Given the description of an element on the screen output the (x, y) to click on. 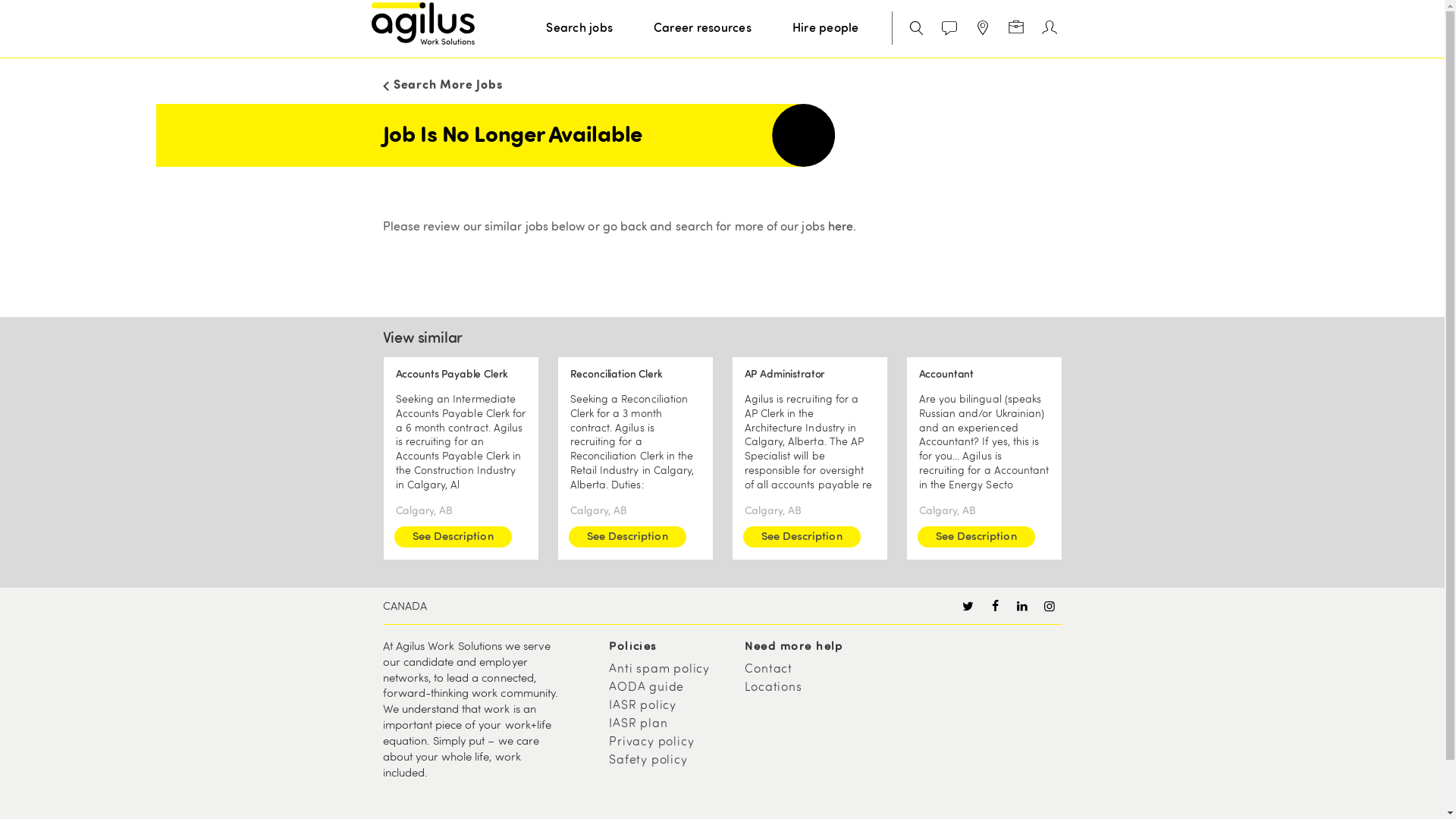
IASR policy Element type: text (670, 705)
Safety policy Element type: text (670, 760)
Agilus Work Solutions Element type: hover (422, 23)
Members Element type: text (1049, 28)
AODA guide Element type: text (670, 687)
See Description Element type: text (976, 537)
Anti spam policy Element type: text (670, 669)
Chat Element type: text (949, 28)
Career resources Element type: text (702, 28)
See Description Element type: text (801, 537)
IASR plan Element type: text (670, 724)
Dashboard Element type: text (1015, 28)
See Description Element type: text (452, 537)
Hire people Element type: text (825, 28)
Search Element type: text (912, 28)
here Element type: text (840, 227)
Locations Element type: text (806, 687)
Privacy policy Element type: text (670, 742)
Contact Element type: text (806, 669)
Locate Element type: text (982, 28)
See Description Element type: text (627, 537)
Search jobs Element type: text (579, 28)
Search More Jobs Element type: text (721, 83)
